Given the description of an element on the screen output the (x, y) to click on. 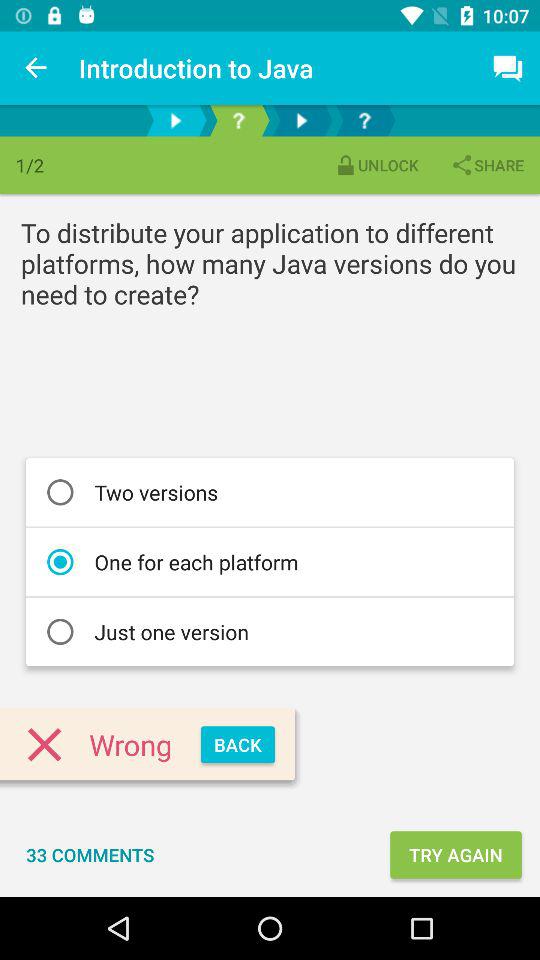
open item at the bottom right corner (455, 854)
